Given the description of an element on the screen output the (x, y) to click on. 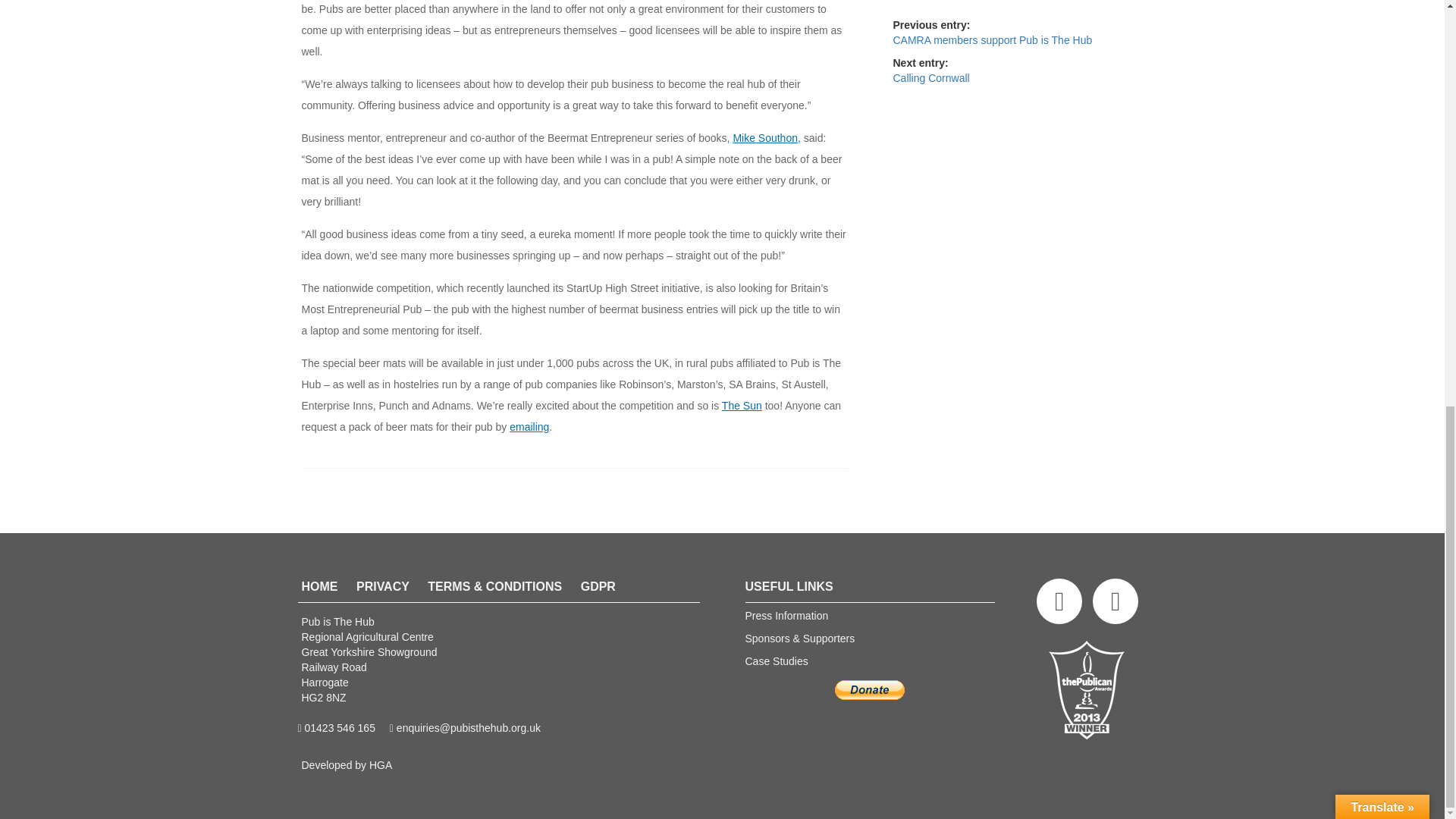
emailing (528, 426)
The Sun (741, 405)
Mike Southon (764, 137)
